Given the description of an element on the screen output the (x, y) to click on. 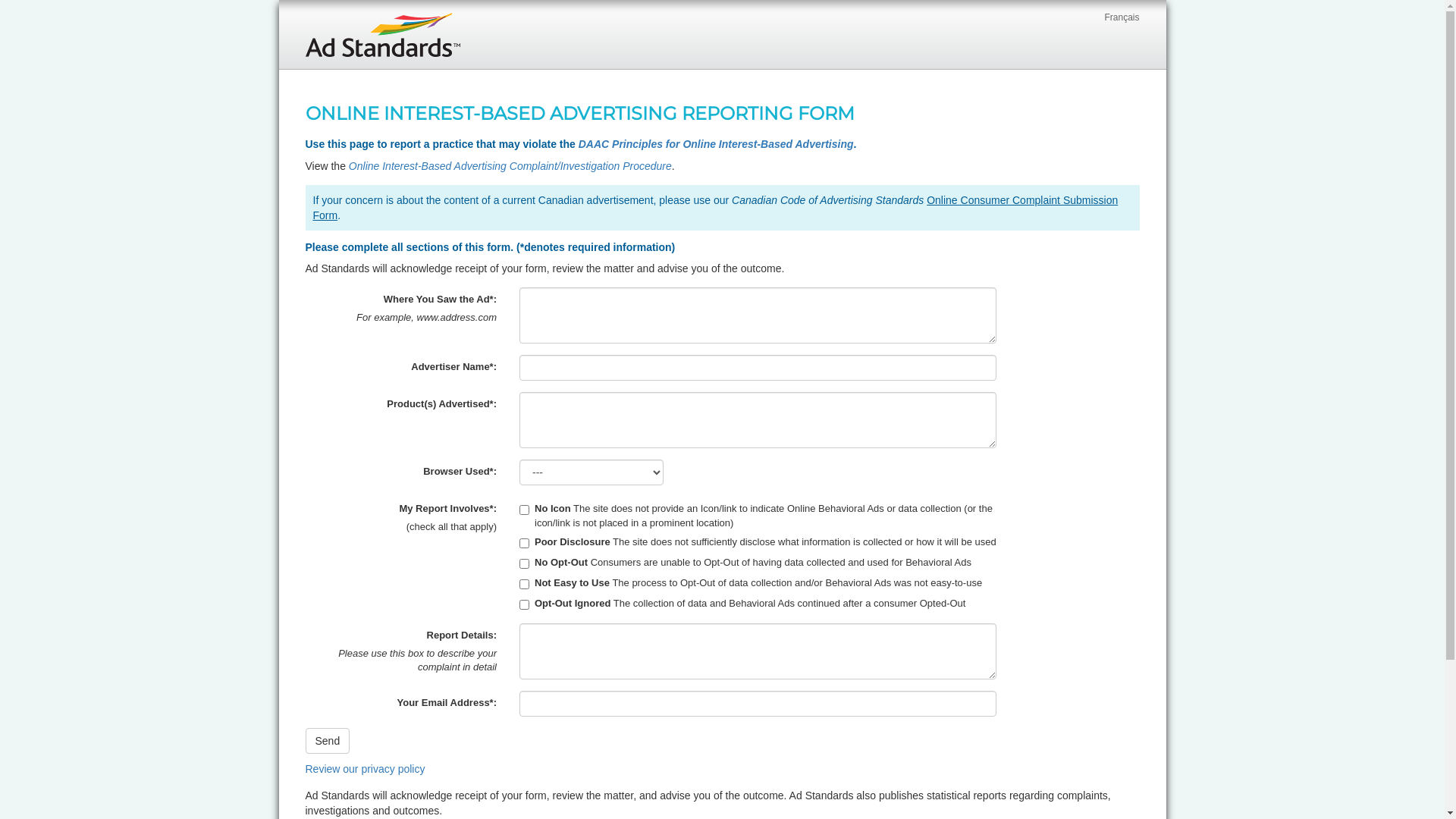
Send Element type: text (326, 740)
Online Consumer Complaint Submission Form Element type: text (714, 207)
Review our privacy policy Element type: text (364, 768)
DAAC Principles for Online Interest-Based Advertising Element type: text (715, 144)
